Given the description of an element on the screen output the (x, y) to click on. 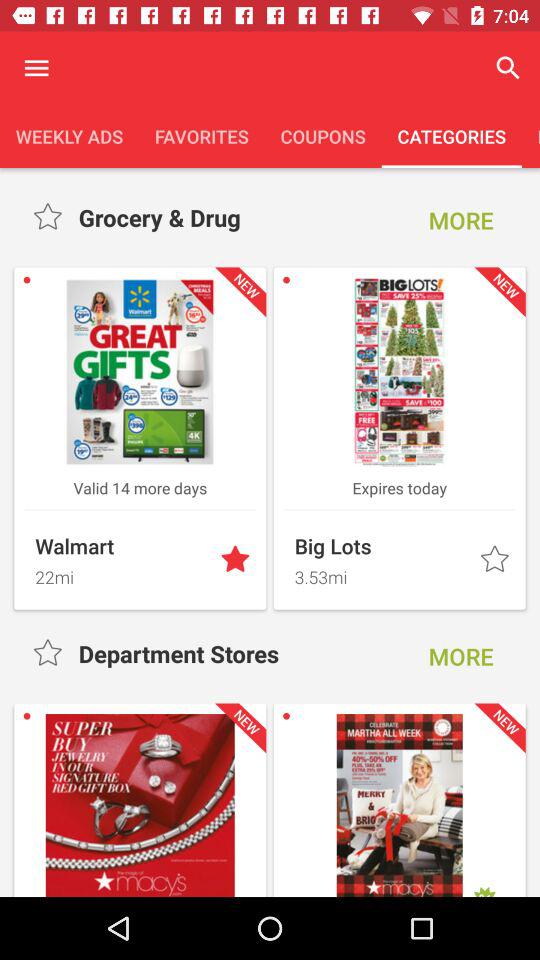
turn off icon above categories item (508, 67)
